Given the description of an element on the screen output the (x, y) to click on. 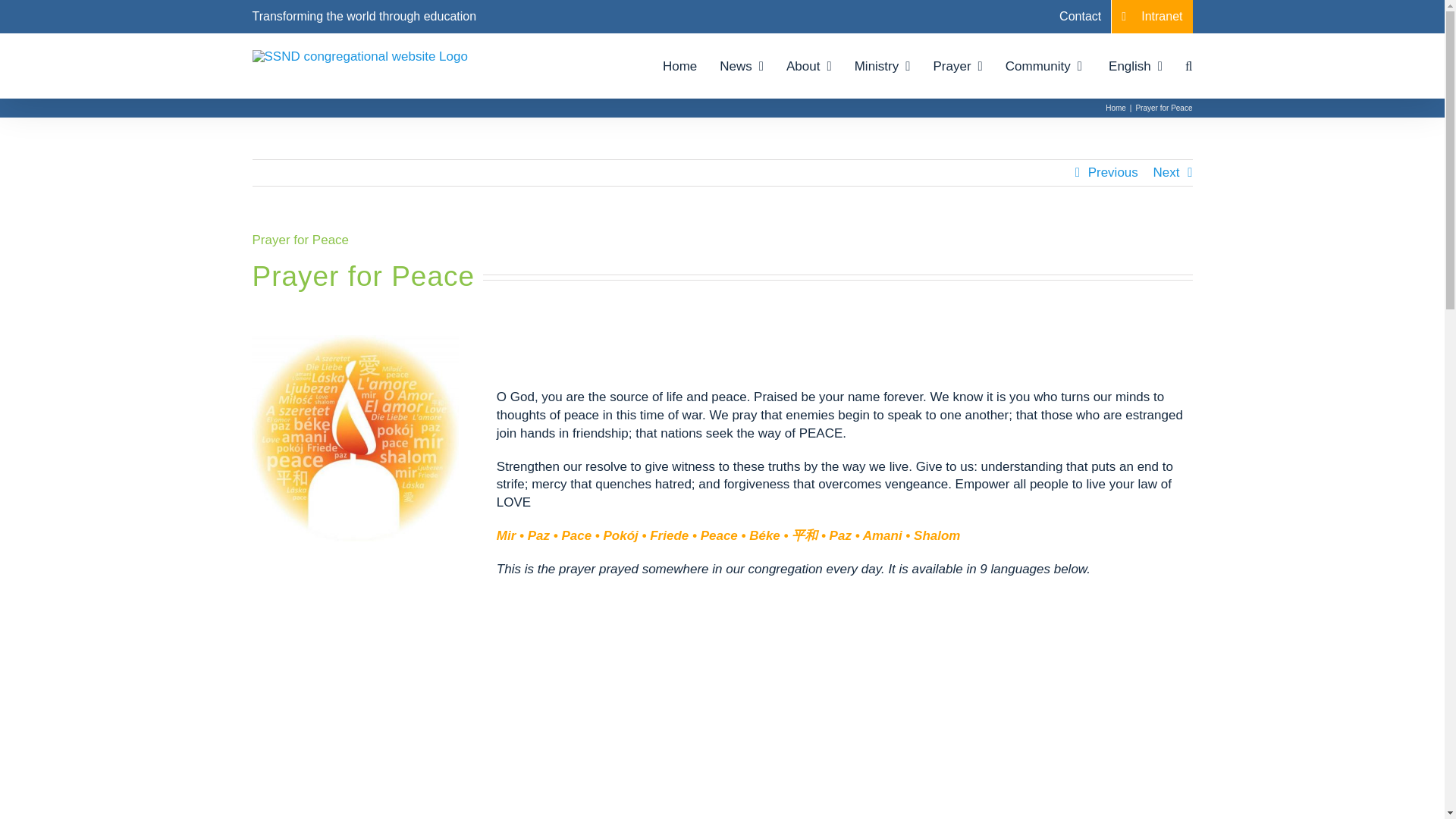
Contact (1079, 16)
Prayer for Peace (721, 295)
Intranet (1152, 16)
English (1133, 65)
